Given the description of an element on the screen output the (x, y) to click on. 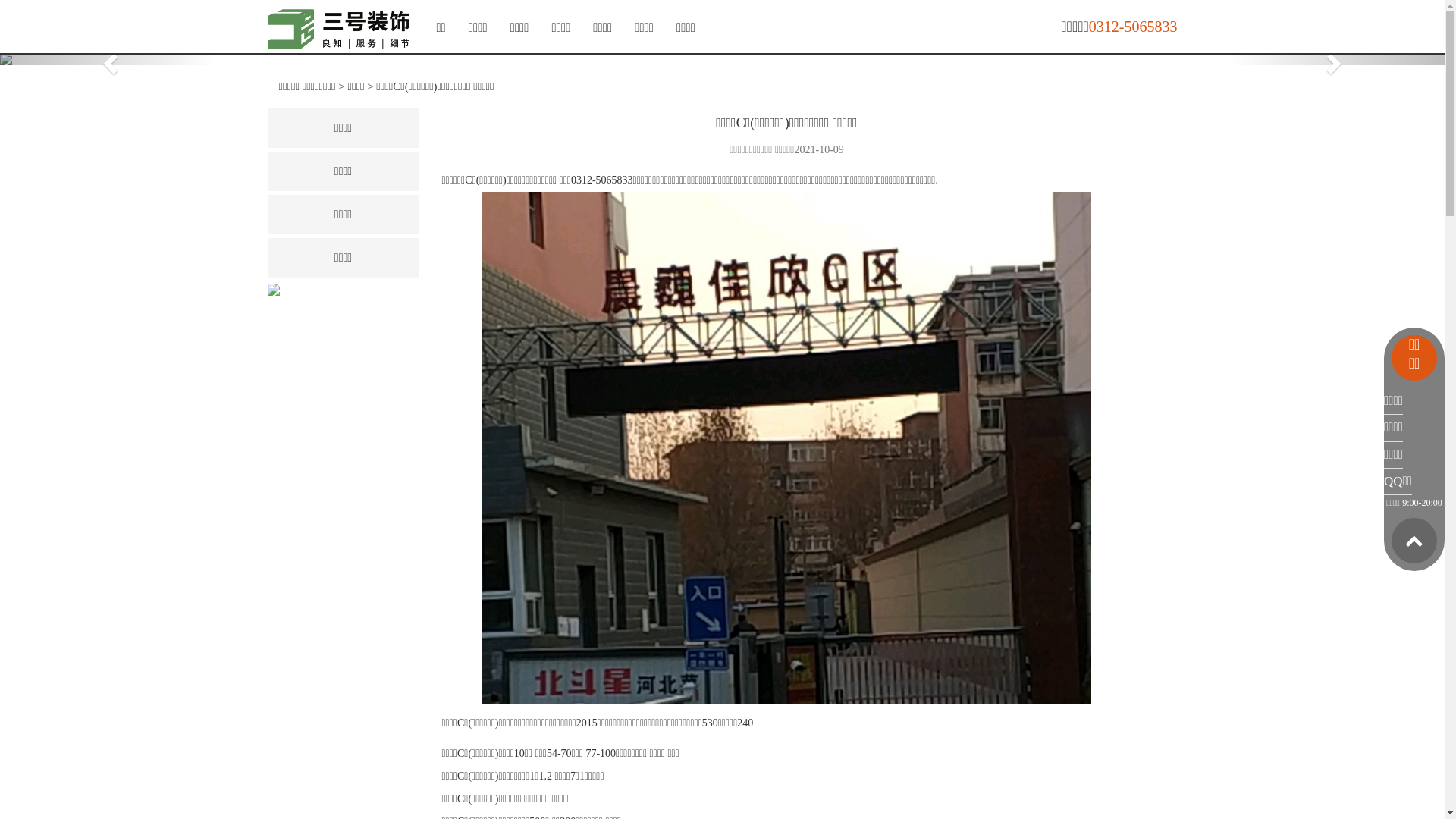
Next Element type: text (1335, 59)
Previous Element type: text (108, 59)
